Given the description of an element on the screen output the (x, y) to click on. 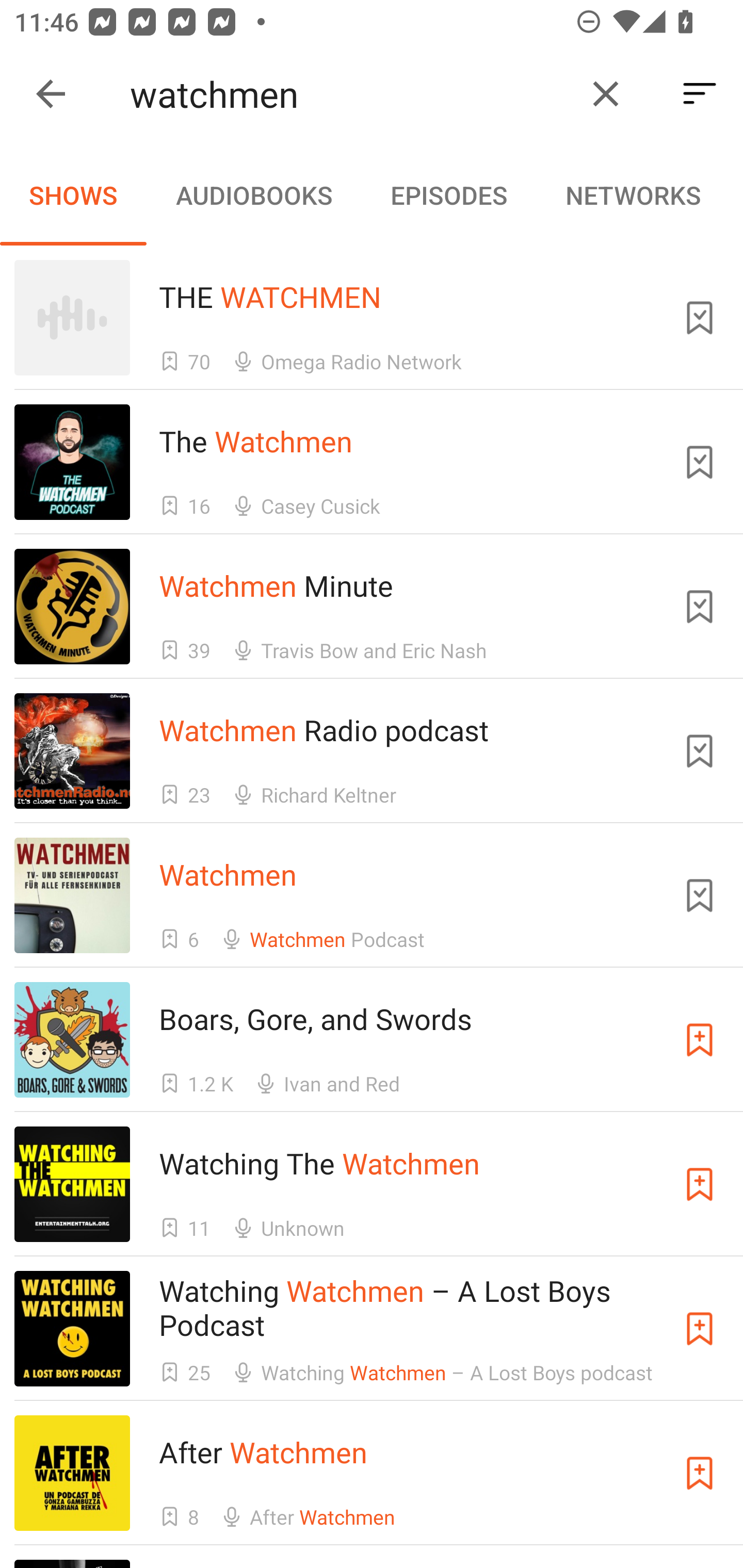
Collapse (50, 93)
Clear query (605, 93)
Sort By (699, 93)
watchmen (349, 94)
SHOWS (73, 195)
AUDIOBOOKS (253, 195)
EPISODES (448, 195)
NETWORKS (632, 195)
Unsubscribe (699, 317)
Unsubscribe (699, 462)
Unsubscribe (699, 606)
Unsubscribe (699, 751)
Unsubscribe (699, 895)
Subscribe (699, 1039)
Subscribe (699, 1183)
Subscribe (699, 1328)
Subscribe (699, 1472)
